Given the description of an element on the screen output the (x, y) to click on. 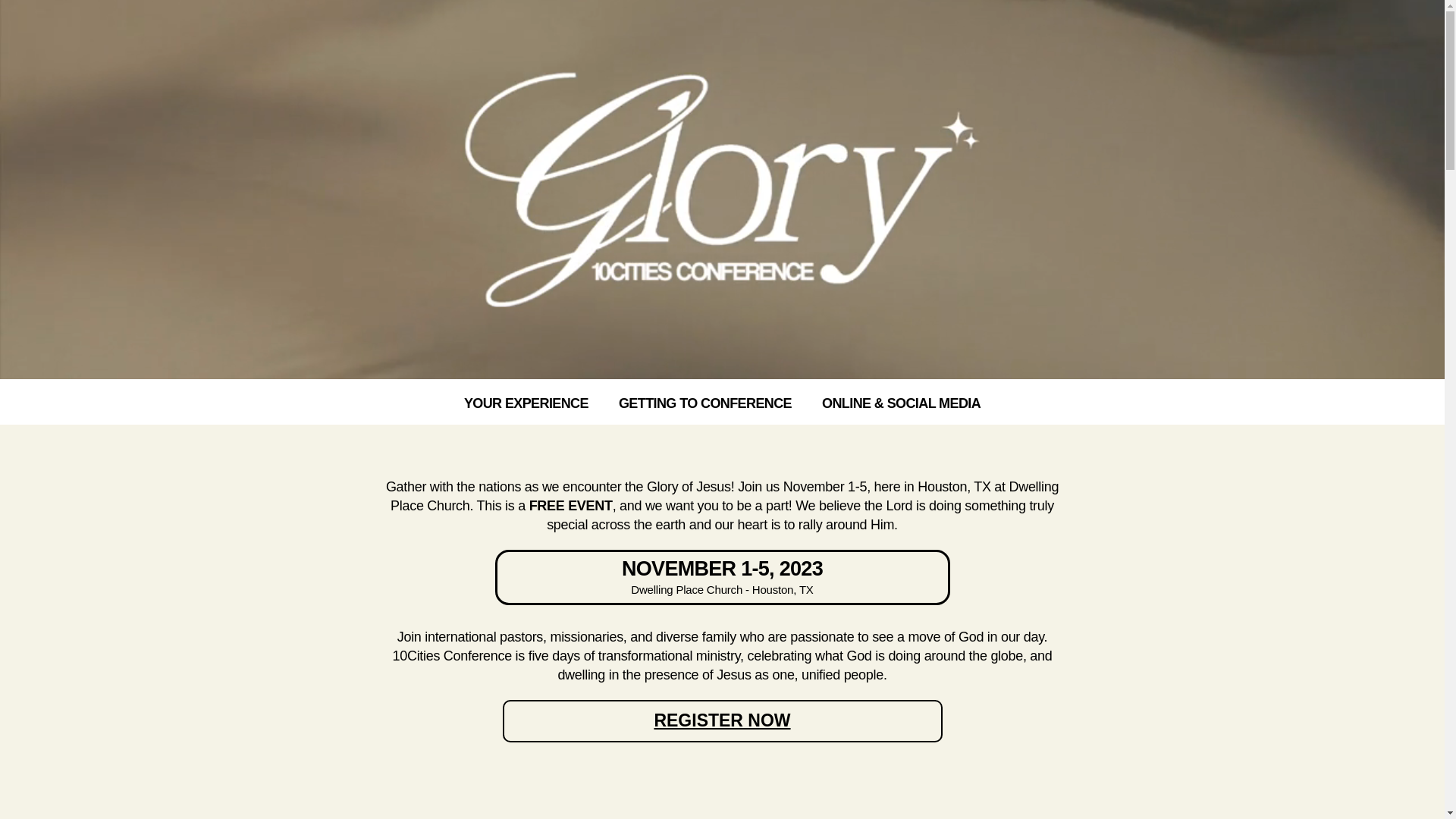
GETTING TO CONFERENCE Element type: text (704, 396)
ONLINE & SOCIAL MEDIA Element type: text (900, 396)
YOUR EXPERIENCE Element type: text (525, 396)
REGISTER NOW Element type: text (721, 720)
